Given the description of an element on the screen output the (x, y) to click on. 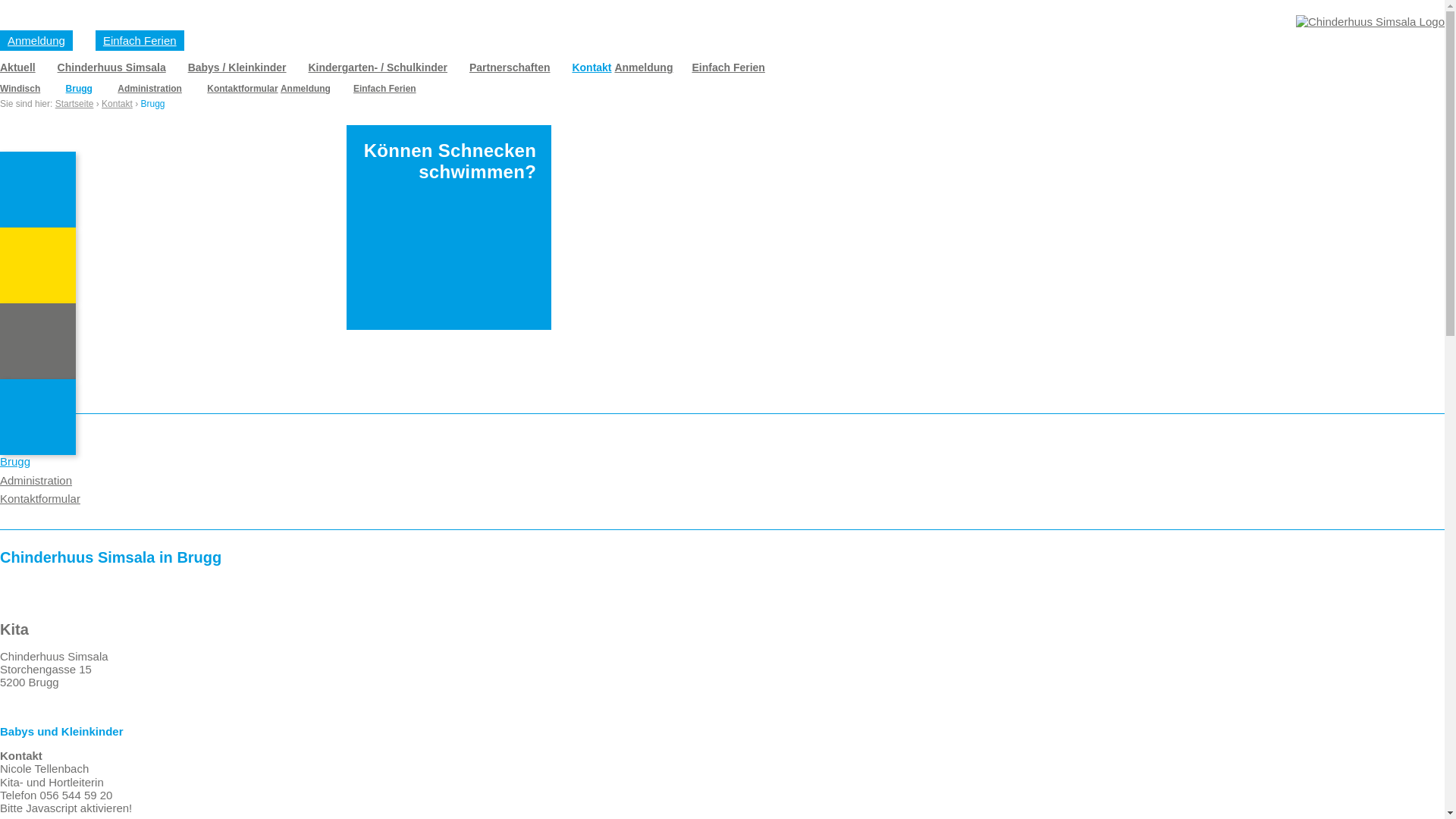
Babys / Kleinkinder Element type: text (237, 67)
Windisch Element type: text (23, 442)
Kontaktformular Element type: text (40, 498)
Anmeldung Element type: text (643, 67)
Aktuell Element type: text (17, 67)
Kindergarten- / Schulkinder Element type: text (377, 67)
Einfach Ferien Element type: text (727, 67)
Einfach Ferien Element type: text (384, 88)
Kontakt Element type: text (116, 103)
Administration Element type: text (36, 479)
Kontaktformular Element type: text (242, 88)
Brugg Element type: text (15, 461)
Brugg Element type: text (78, 88)
Windisch Element type: text (20, 88)
Startseite Element type: text (74, 103)
Einfach Ferien Element type: text (139, 40)
Partnerschaften Element type: text (509, 67)
Administration Element type: text (149, 88)
Kontakt Element type: text (591, 67)
Chinderhuus Simsala Element type: text (111, 67)
Anmeldung Element type: text (36, 40)
Anmeldung Element type: text (305, 88)
